Given the description of an element on the screen output the (x, y) to click on. 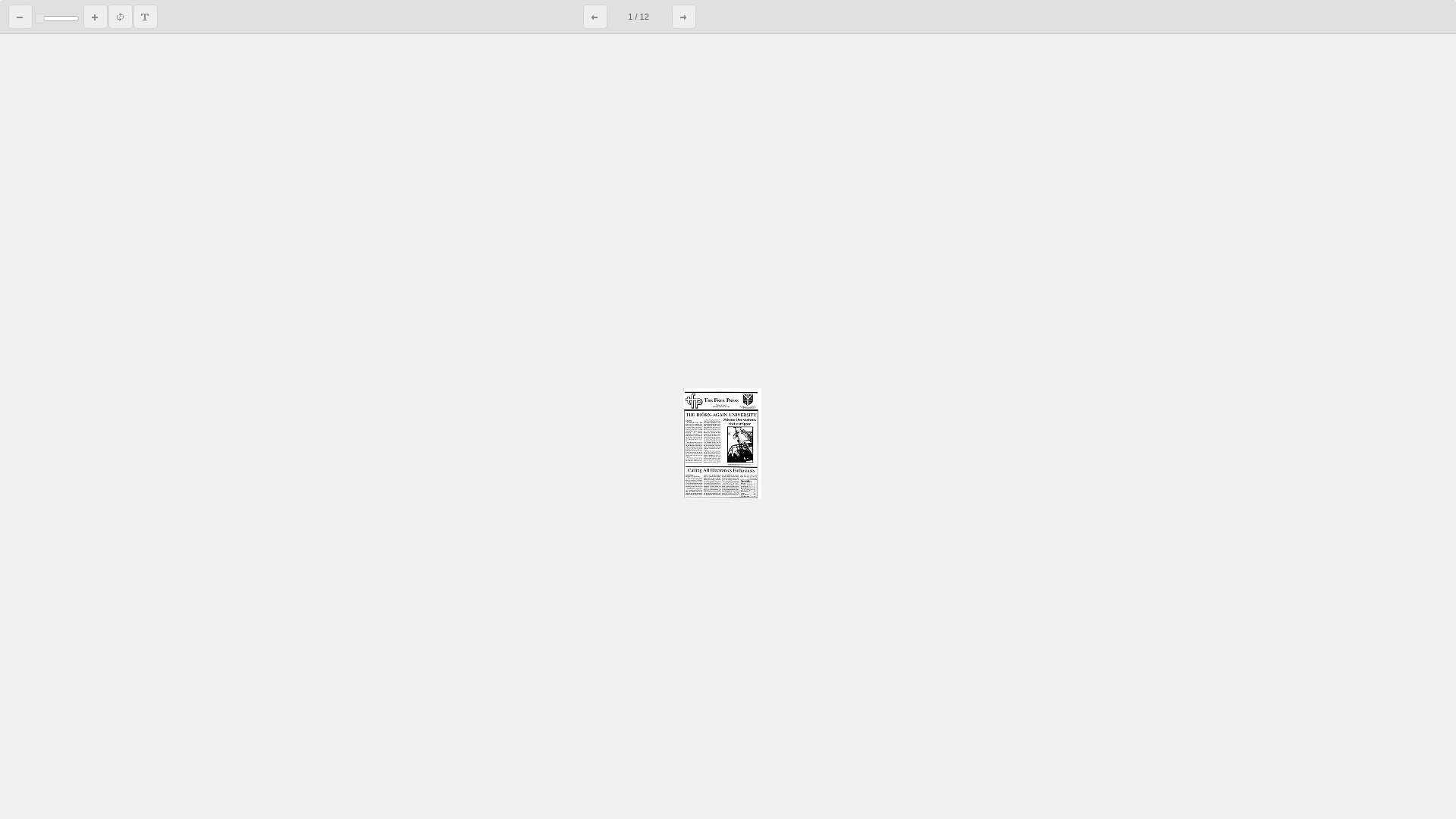
Show text Element type: hover (145, 16)
Previous page Element type: hover (595, 16)
Reset zoom level Element type: hover (120, 16)
Zoom in Element type: hover (95, 16)
Next page Element type: hover (683, 16)
Zoom out Element type: hover (20, 16)
